Given the description of an element on the screen output the (x, y) to click on. 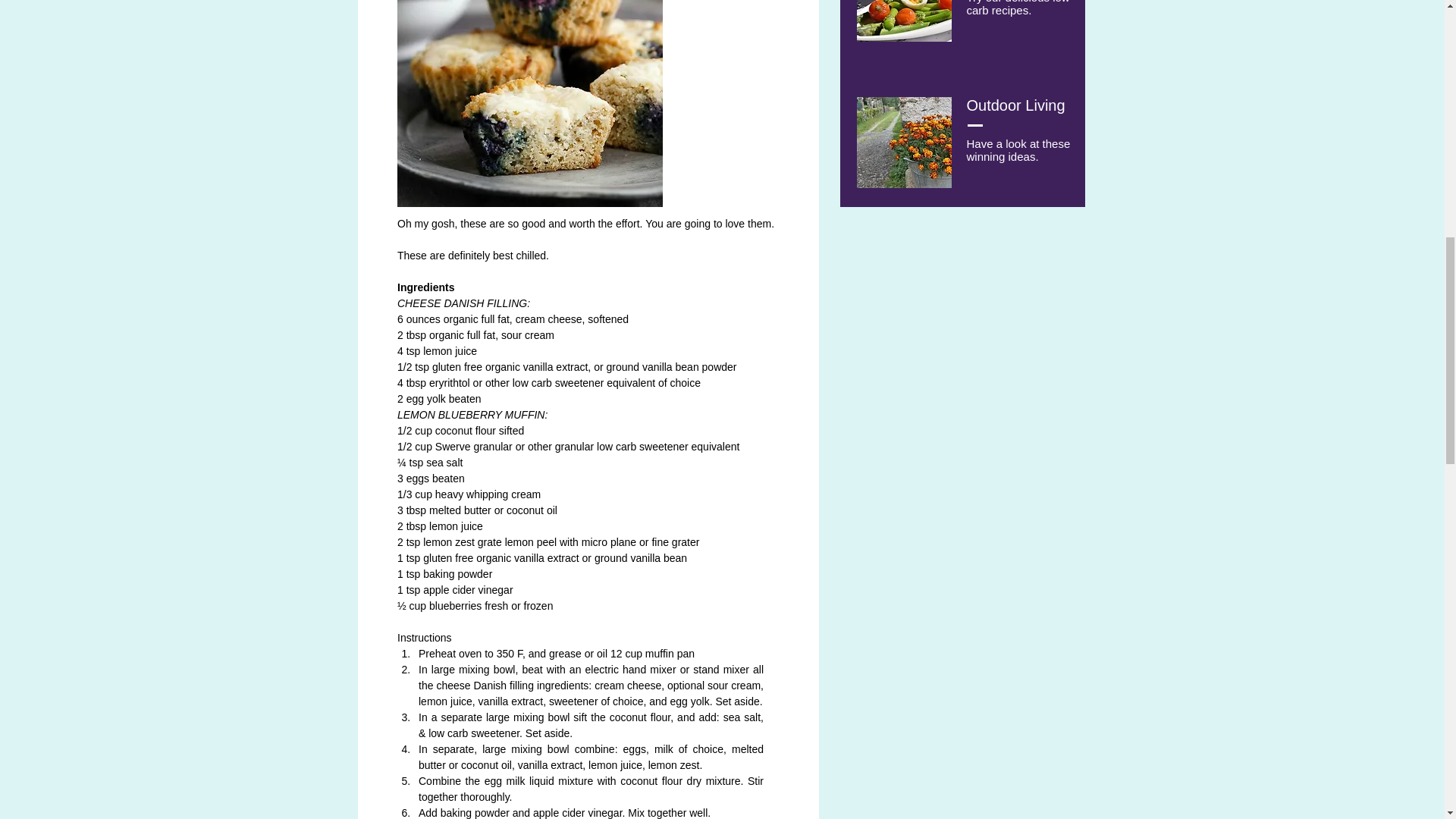
utdoor Livin (1017, 105)
